Given the description of an element on the screen output the (x, y) to click on. 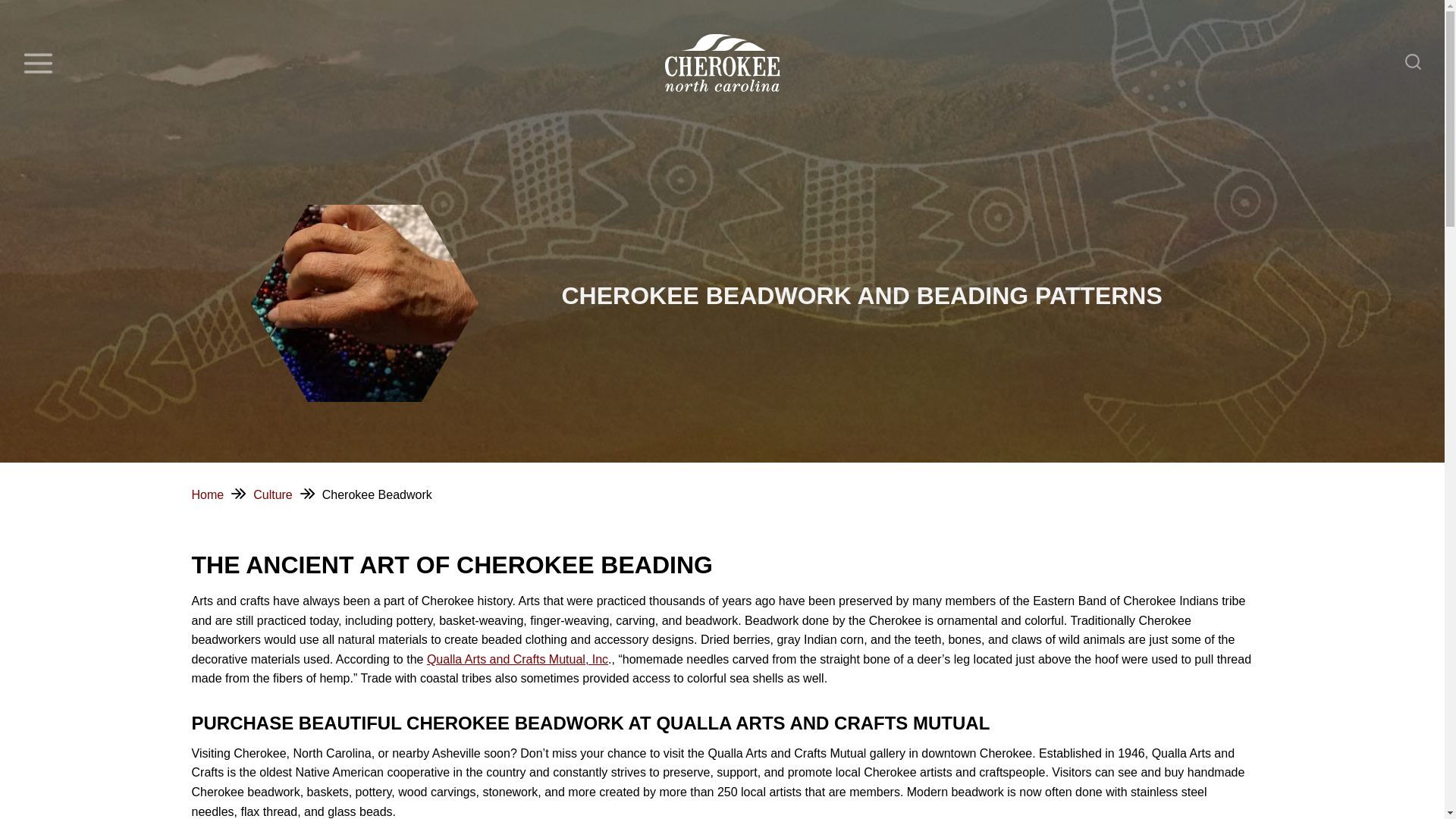
Culture (272, 494)
Main Menu (38, 62)
Home (207, 494)
Qualla Arts and Crafts Mutual, Inc (517, 658)
